Given the description of an element on the screen output the (x, y) to click on. 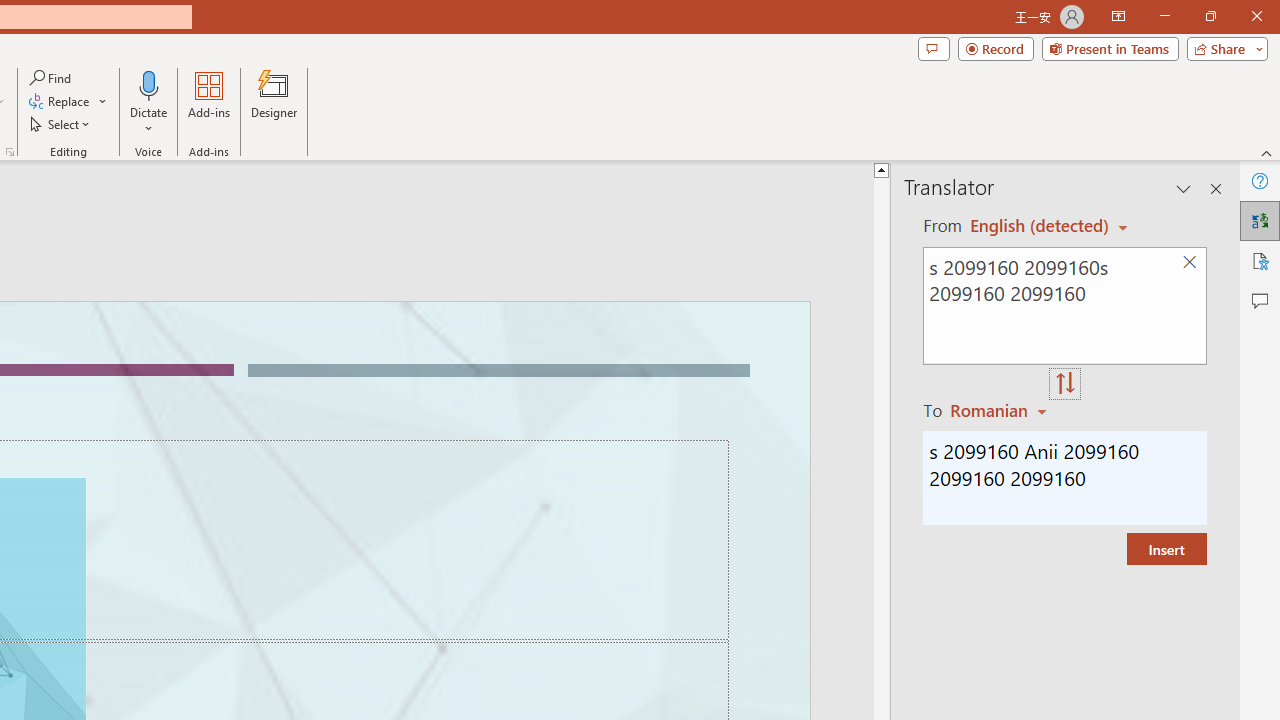
+86 159 0032 4640 (799, 672)
Copilot (Ctrl+Shift+.) (1241, 82)
Wang Yian (406, 672)
644553698@qq.com (996, 672)
Microsoft Cashback - US$0.00 (1041, 216)
